Given the description of an element on the screen output the (x, y) to click on. 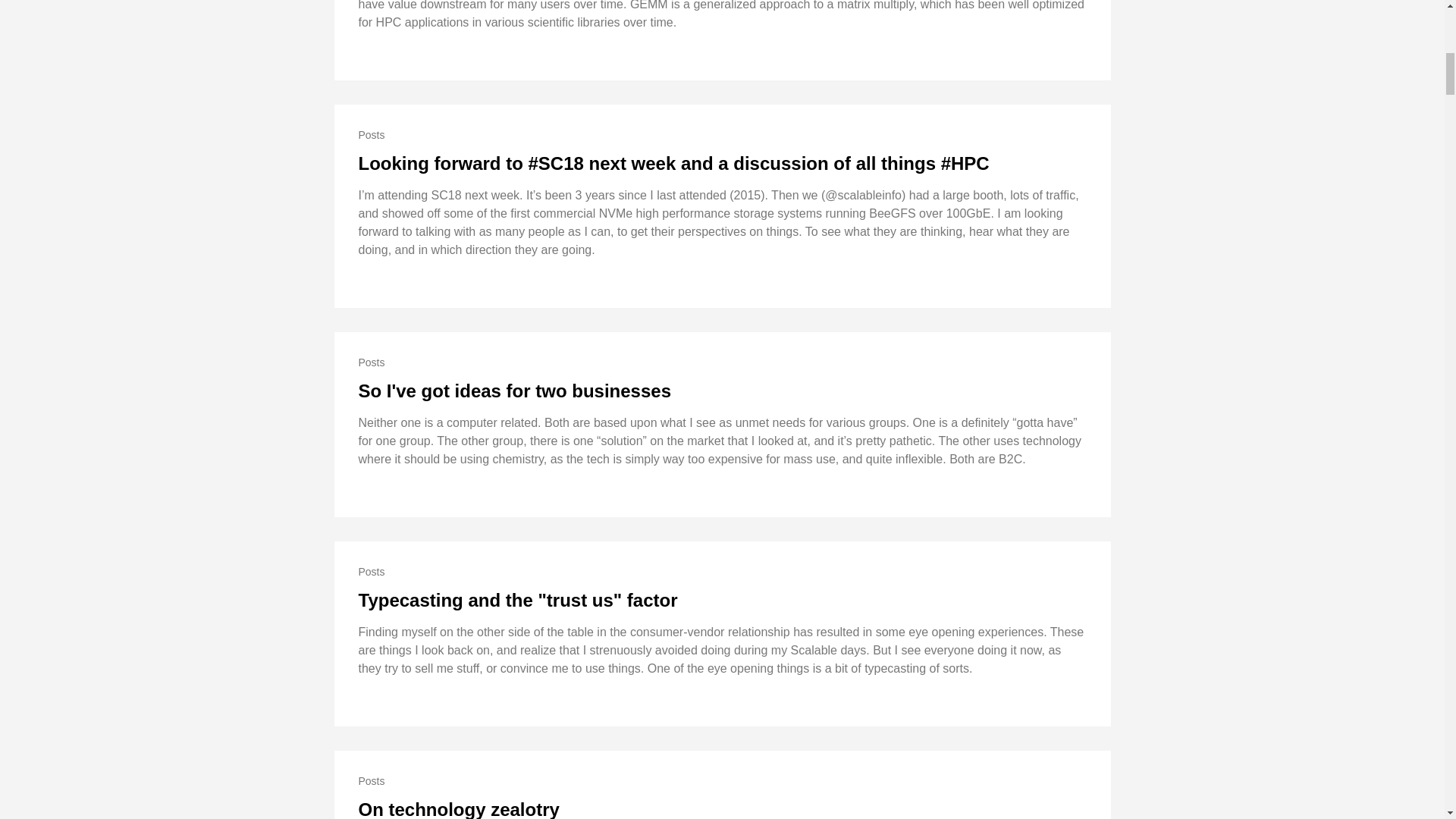
Typecasting and the "trust us" factor (517, 599)
On technology zealotry (458, 809)
So I've got ideas for two businesses (513, 390)
